Given the description of an element on the screen output the (x, y) to click on. 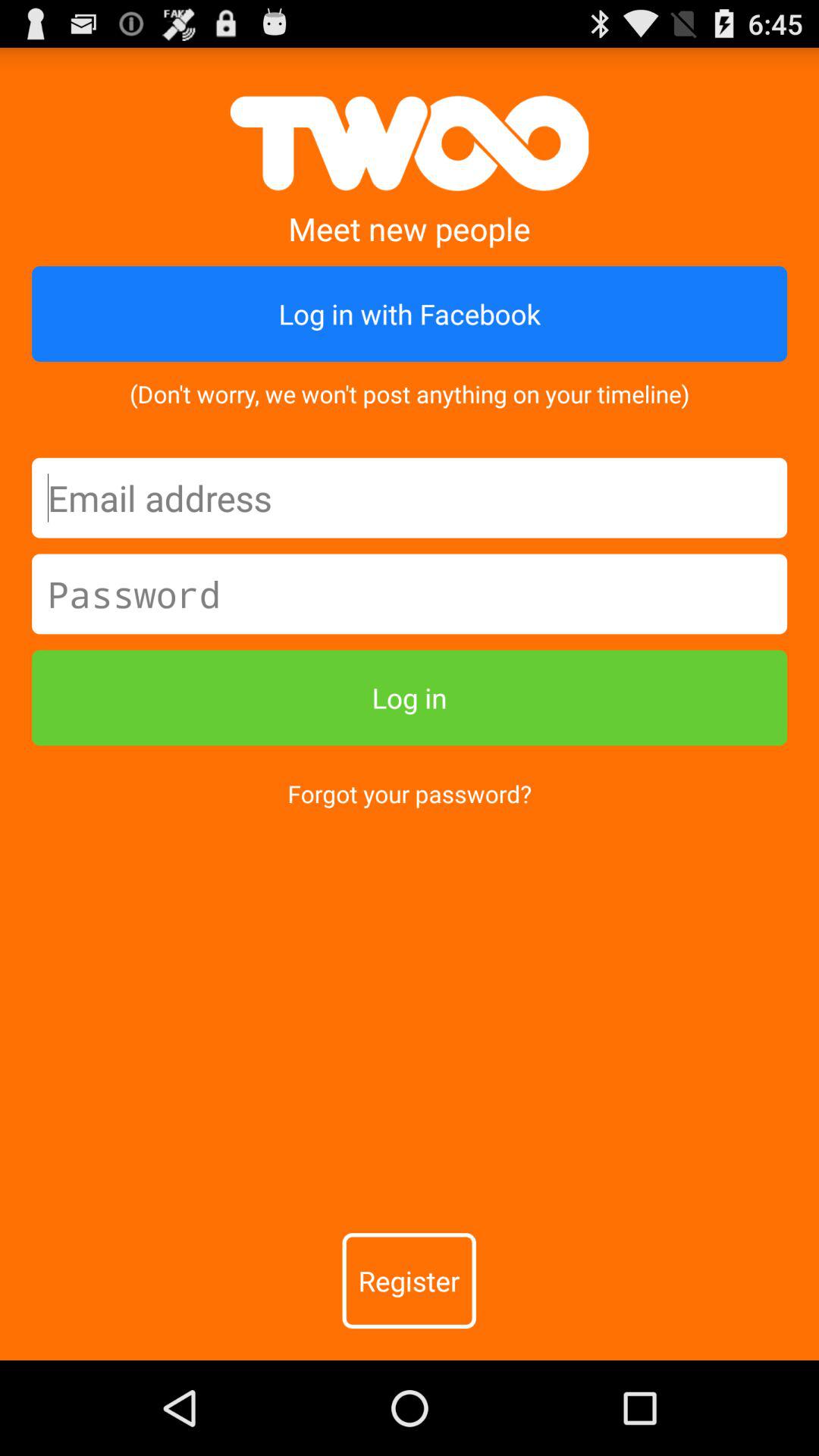
tap the item below the log in (409, 793)
